Given the description of an element on the screen output the (x, y) to click on. 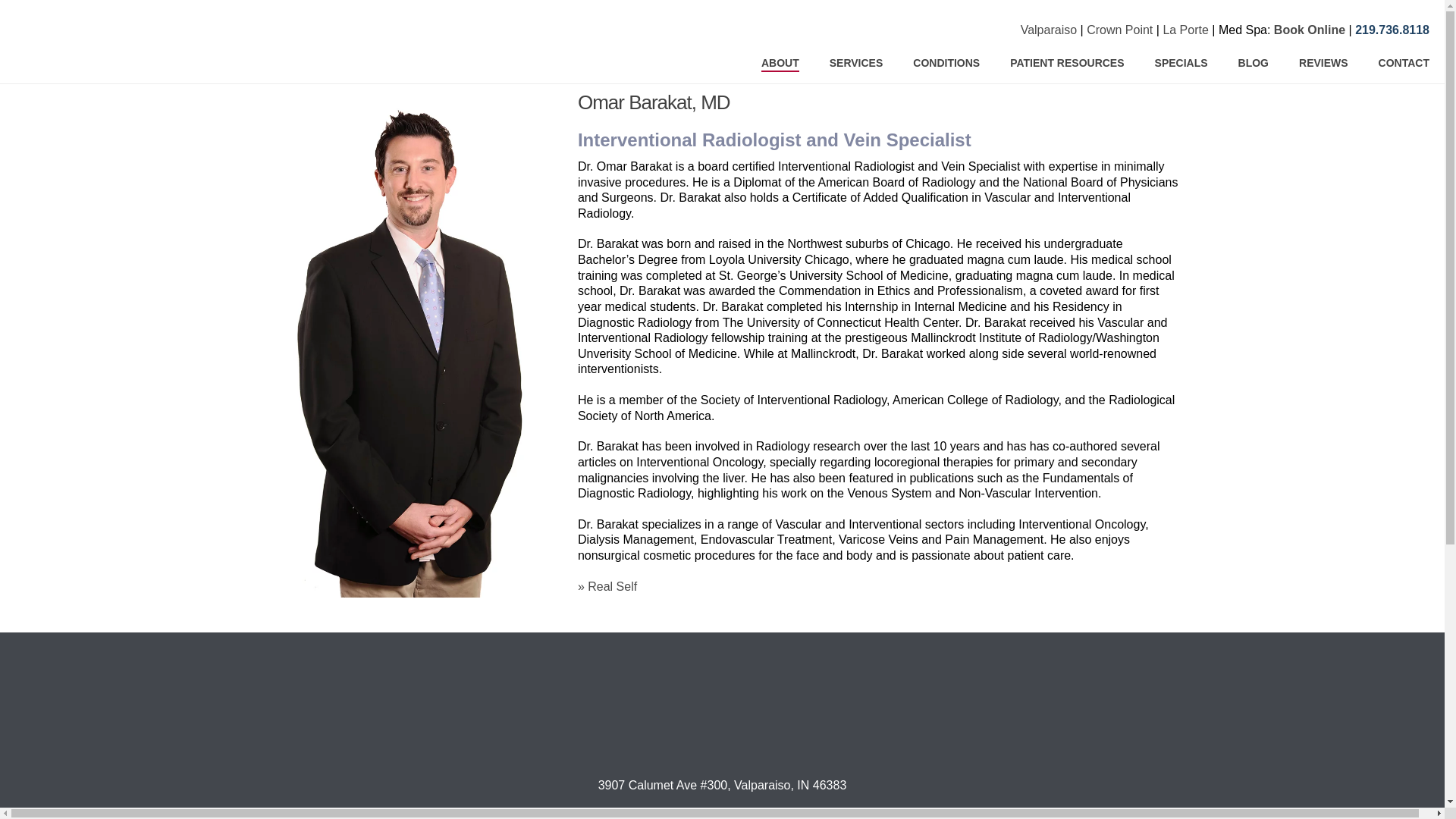
SERVICES (855, 63)
CONDITIONS (946, 63)
La Porte (1184, 29)
REVIEWS (1323, 63)
SERVICES (855, 63)
Book Online (1309, 29)
Valparaiso (1048, 29)
SPECIALS (1181, 63)
Crown Point (1119, 29)
PATIENT RESOURCES (1066, 63)
BLOG (1253, 63)
ABOUT (779, 63)
CONTACT (1403, 63)
ABOUT (779, 63)
Revolutionary Treatments. No Surgery. No Downtime. (65, 41)
